Given the description of an element on the screen output the (x, y) to click on. 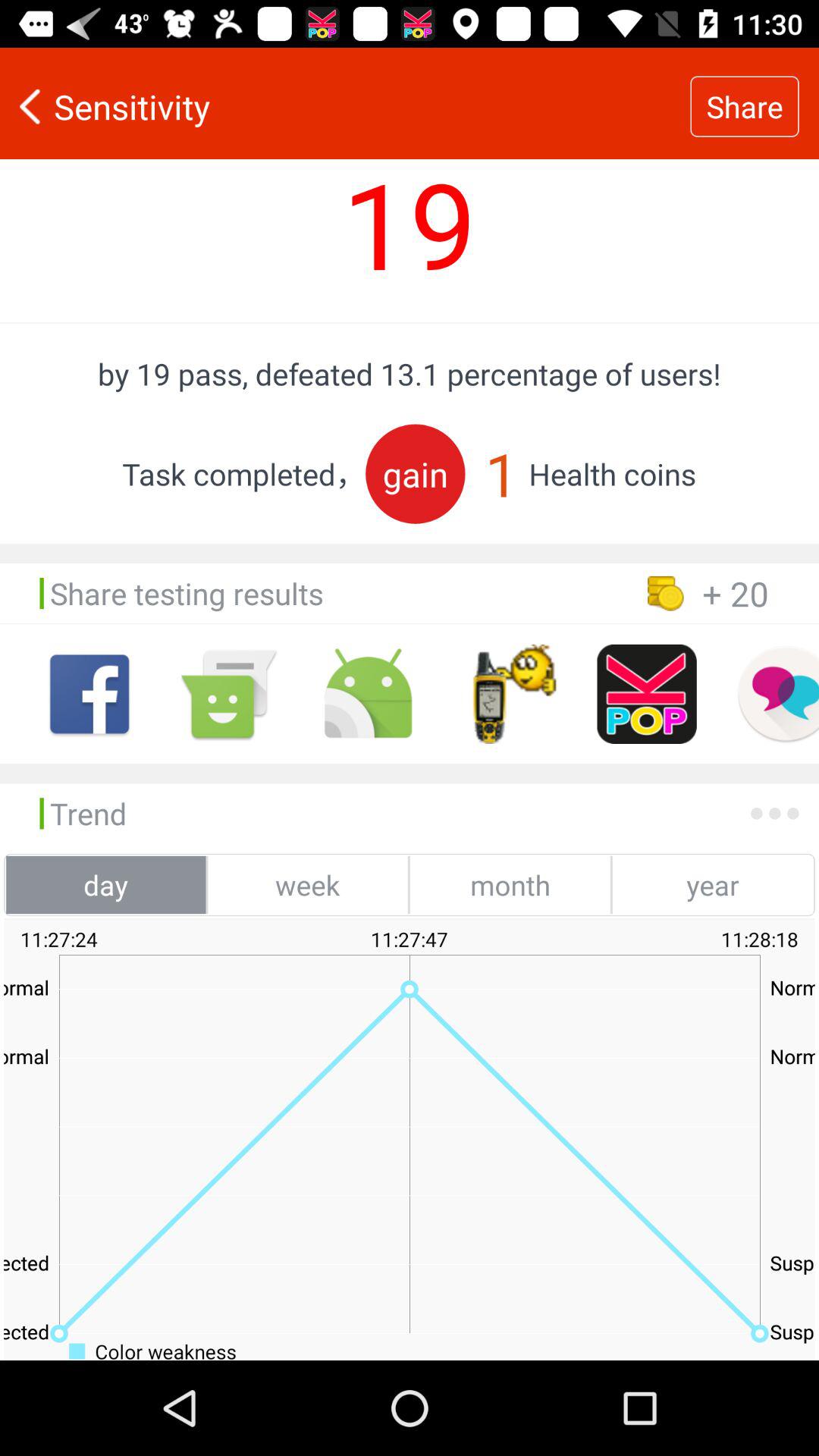
share result (646, 693)
